Given the description of an element on the screen output the (x, y) to click on. 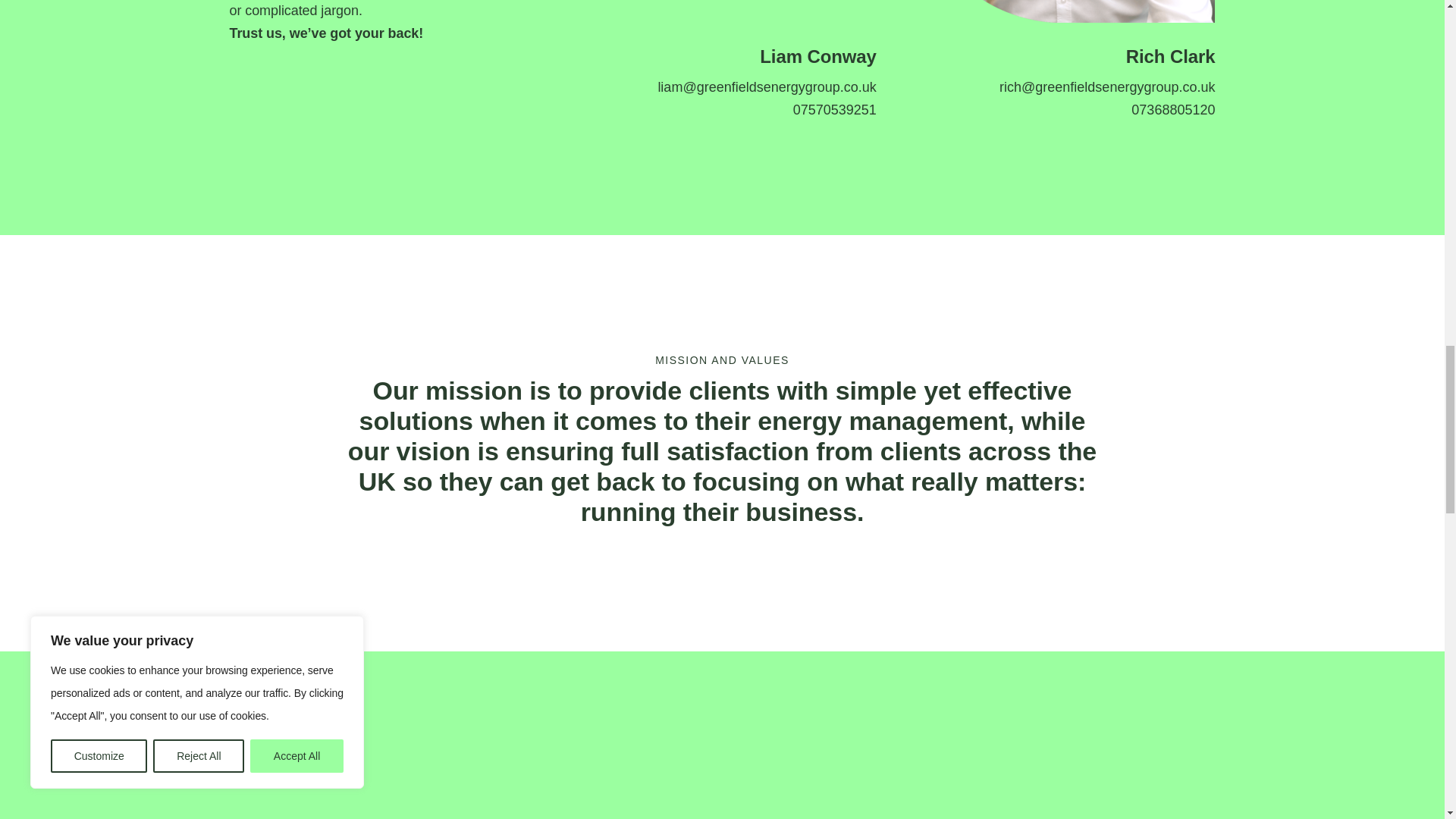
07570539251 (834, 109)
07368805120 (1172, 109)
